Given the description of an element on the screen output the (x, y) to click on. 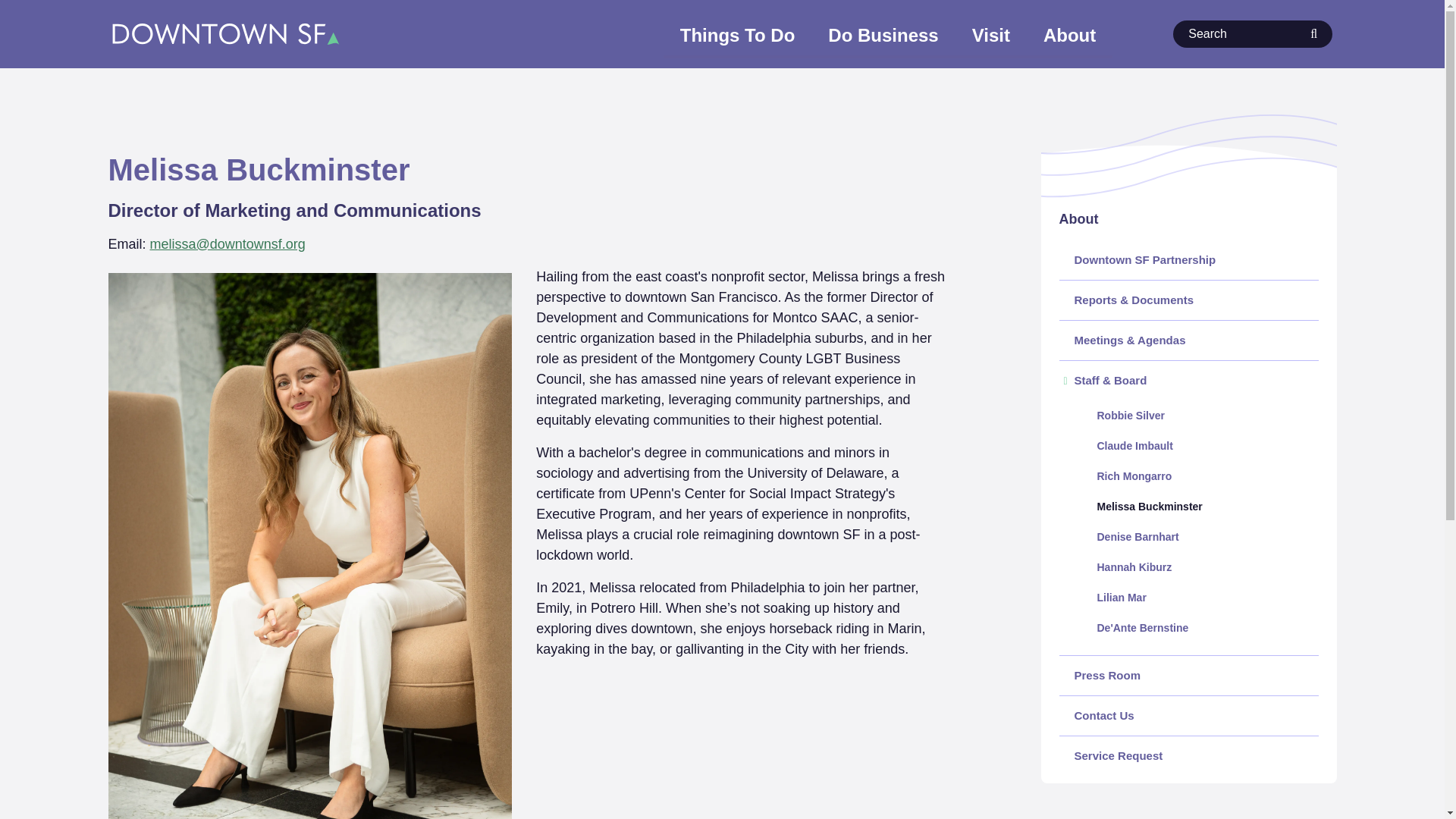
Do Business (882, 36)
Things To Do (737, 36)
About (1069, 36)
Visit (990, 36)
